Given the description of an element on the screen output the (x, y) to click on. 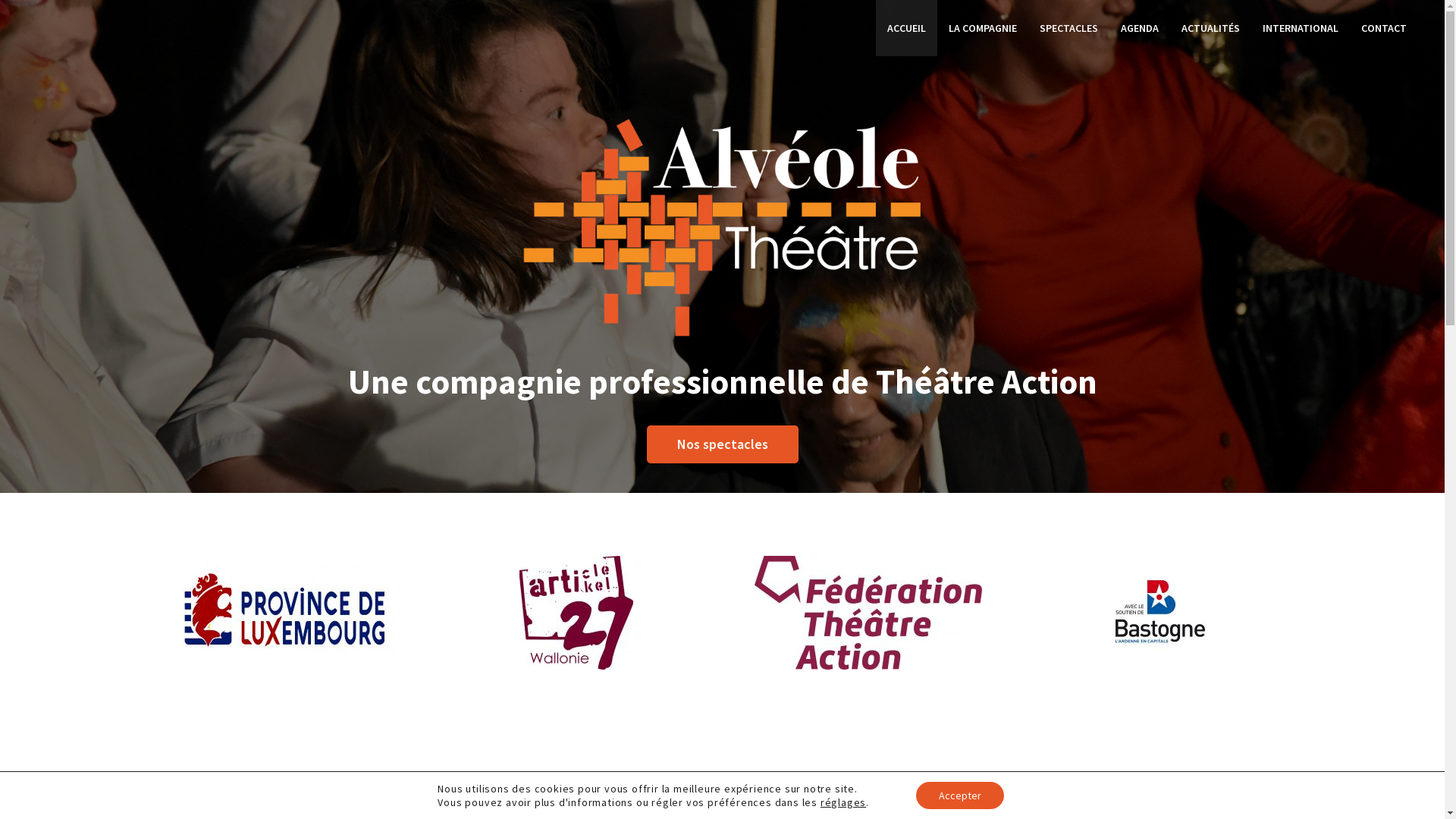
INTERNATIONAL Element type: text (1300, 28)
Nos spectacles Element type: text (722, 444)
Accepter Element type: text (960, 795)
LA COMPAGNIE Element type: text (982, 28)
CONTACT Element type: text (1383, 28)
ACCUEIL Element type: text (906, 28)
AGENDA Element type: text (1139, 28)
SPECTACLES Element type: text (1068, 28)
